Given the description of an element on the screen output the (x, y) to click on. 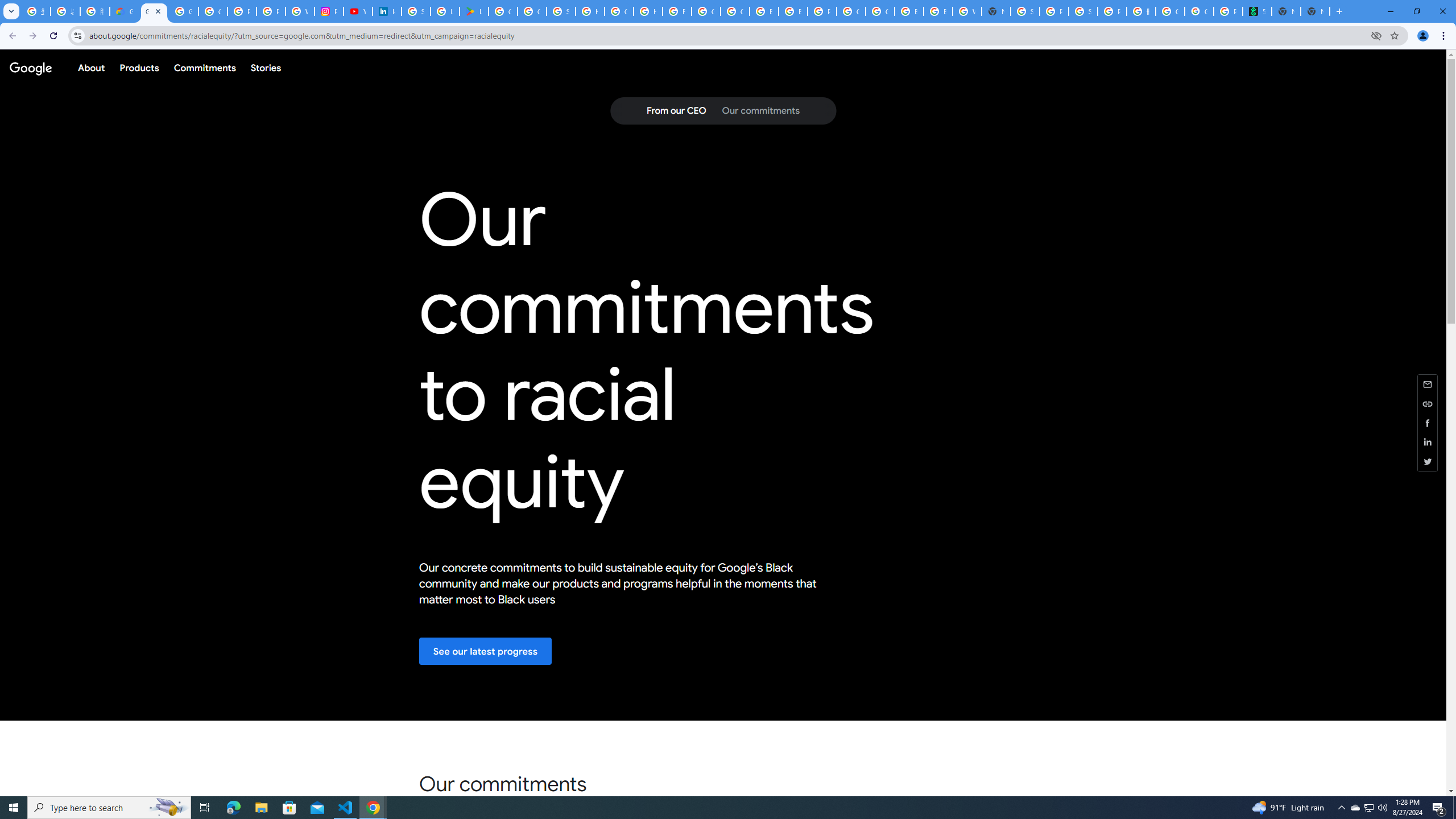
Share this page (LinkedIn) (1427, 442)
From our CEO: Jump to page section (676, 110)
YouTube Culture & Trends - On The Rise: Handcam Videos (357, 11)
Privacy Help Center - Policies Help (271, 11)
